Given the description of an element on the screen output the (x, y) to click on. 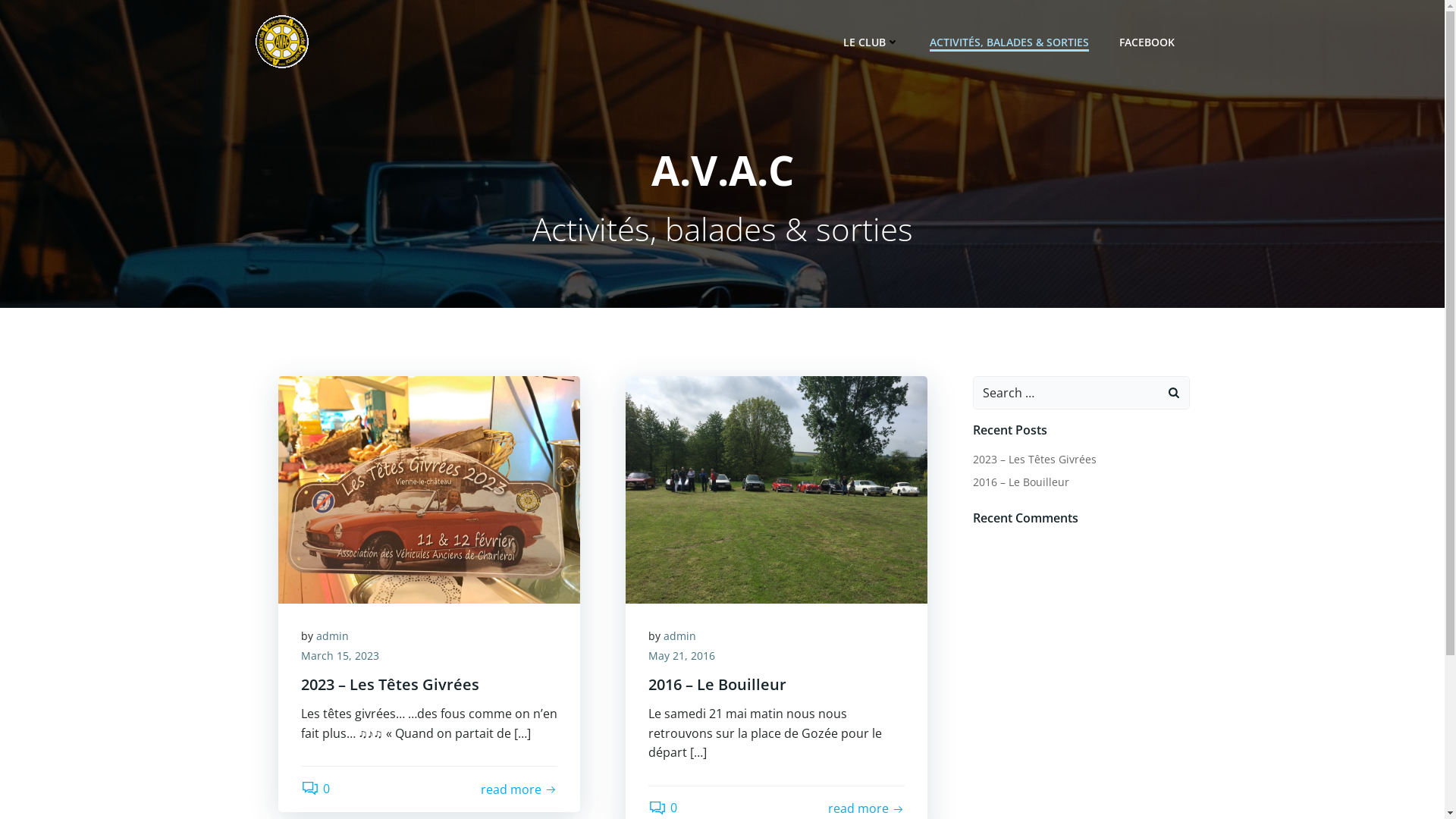
March 15, 2023 Element type: text (339, 655)
admin Element type: text (331, 635)
Colibri Element type: text (887, 773)
0 Element type: text (314, 788)
FACEBOOK Element type: text (1146, 41)
LE CLUB Element type: text (871, 41)
admin Element type: text (679, 635)
May 21, 2016 Element type: text (681, 655)
0 Element type: text (662, 807)
Search  Element type: text (29, 15)
read more Element type: text (518, 790)
